Given the description of an element on the screen output the (x, y) to click on. 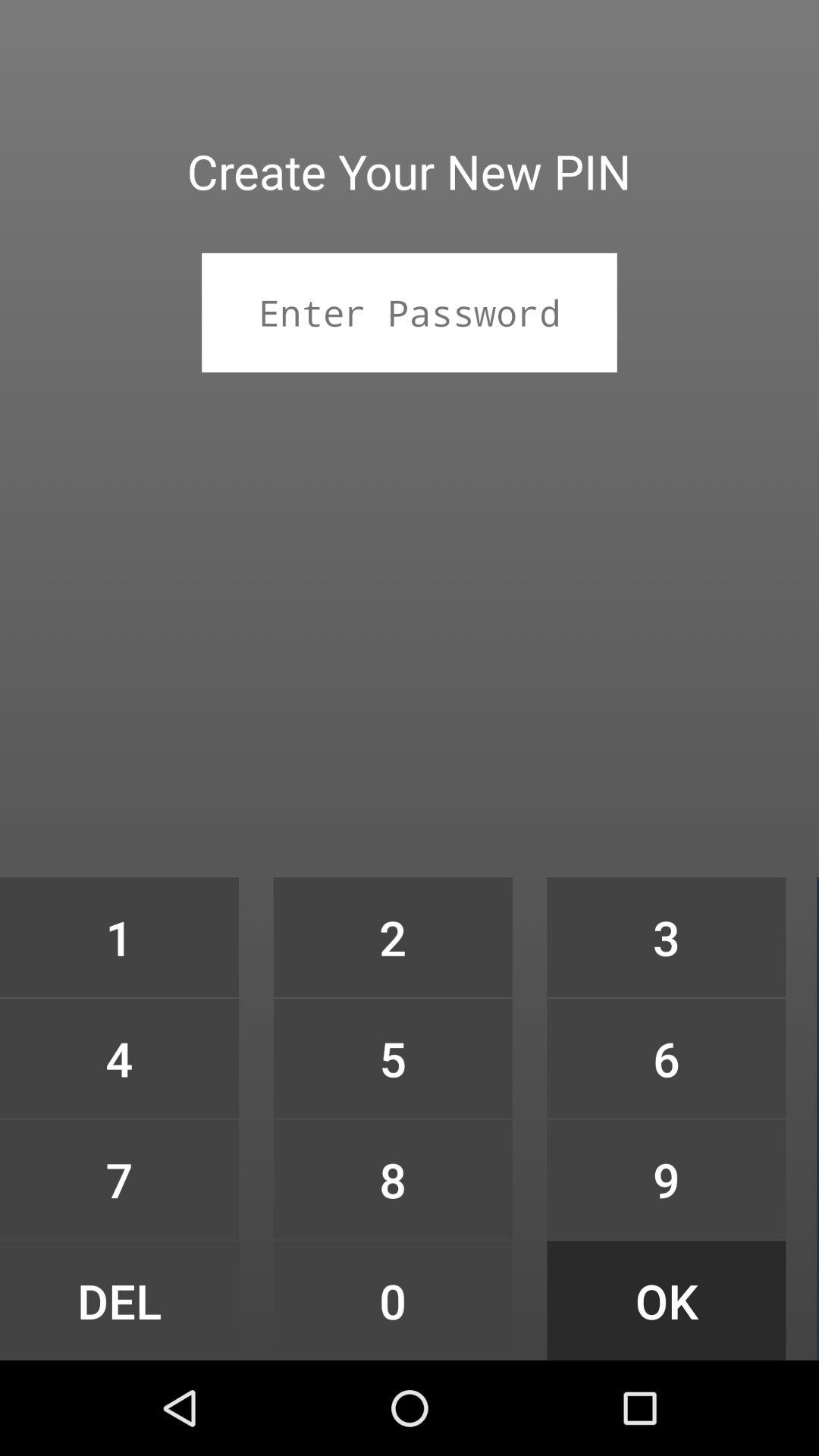
turn on the icon next to the 1 item (392, 1058)
